Given the description of an element on the screen output the (x, y) to click on. 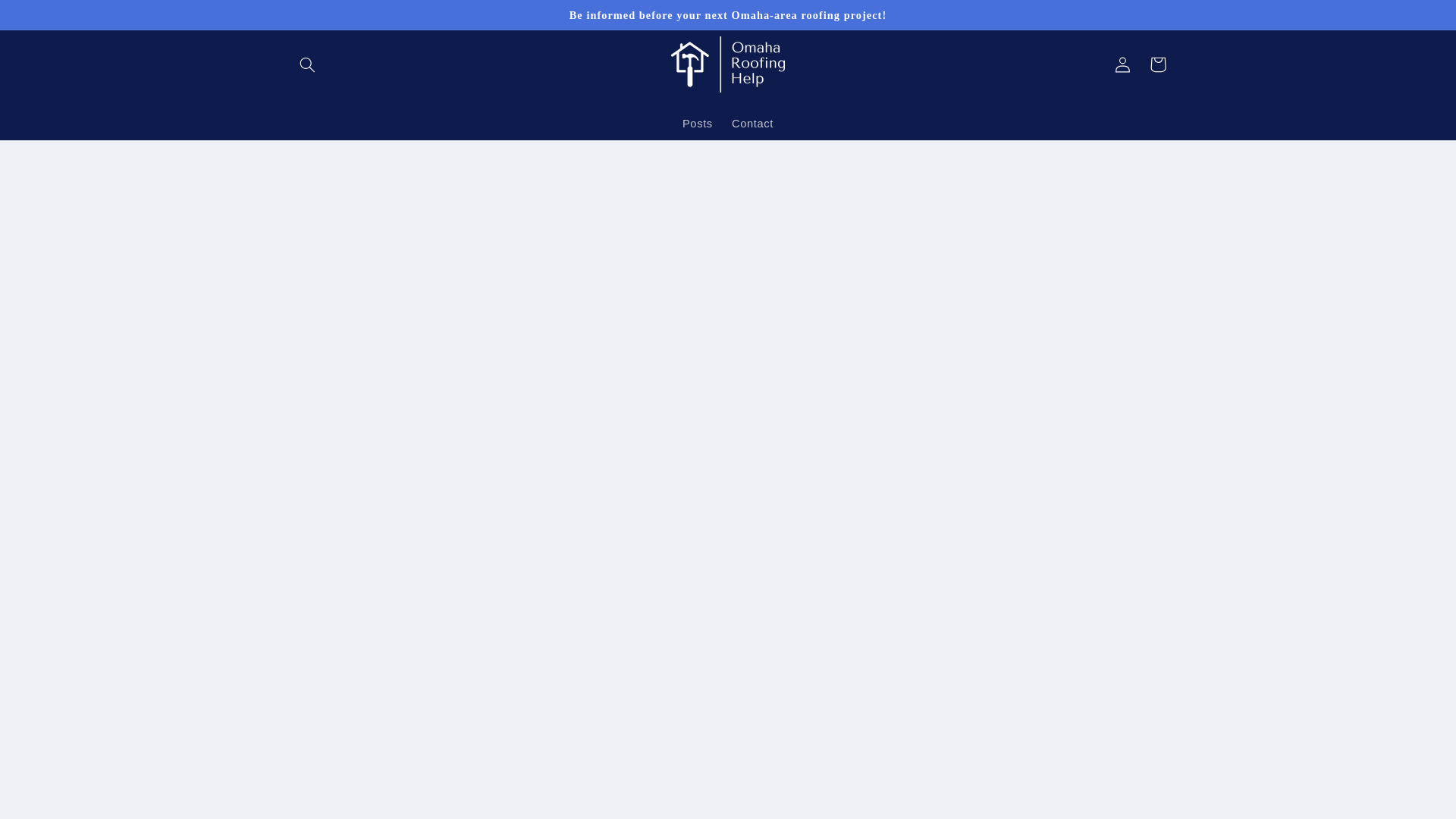
Posts (697, 123)
Skip to content (48, 18)
Contact (752, 123)
Cart (1157, 63)
Log in (1122, 63)
